Given the description of an element on the screen output the (x, y) to click on. 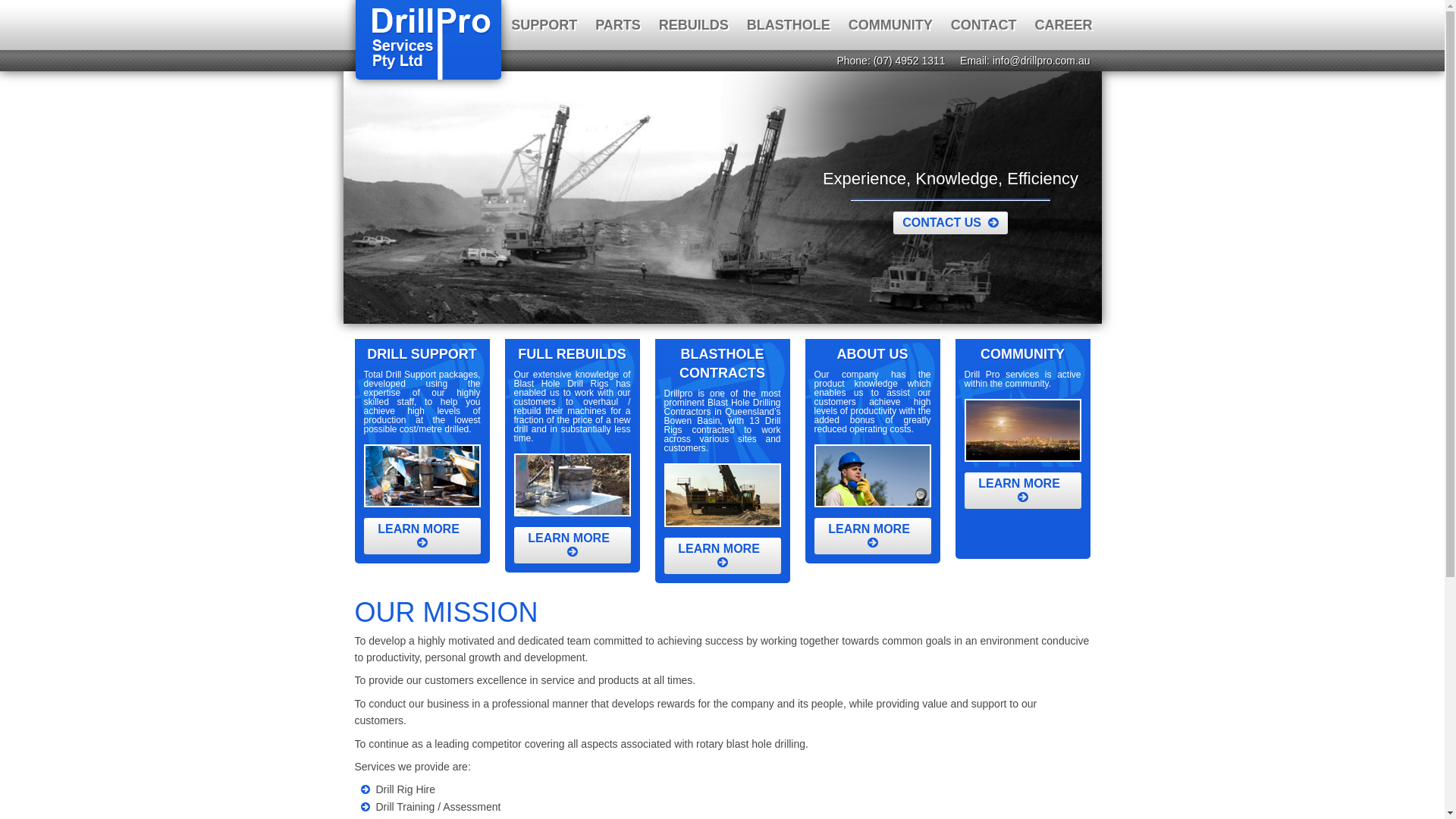
LEARN MORE   Element type: text (1022, 490)
CONTACT US   Element type: text (950, 222)
LEARN MORE   Element type: text (572, 545)
COMMUNITY Element type: text (890, 25)
REBUILDS Element type: text (693, 25)
ABOUT Element type: text (468, 25)
CONTACT Element type: text (983, 25)
(07) 4952 1311 Element type: text (909, 60)
LEARN MORE   Element type: text (422, 535)
BLASTHOLE Element type: text (788, 25)
LEARN MORE   Element type: text (722, 555)
SUPPORT Element type: text (544, 25)
PARTS Element type: text (617, 25)
info@drillpro.com.au Element type: text (1041, 60)
LEARN MORE   Element type: text (872, 535)
CAREER Element type: text (1063, 25)
